Given the description of an element on the screen output the (x, y) to click on. 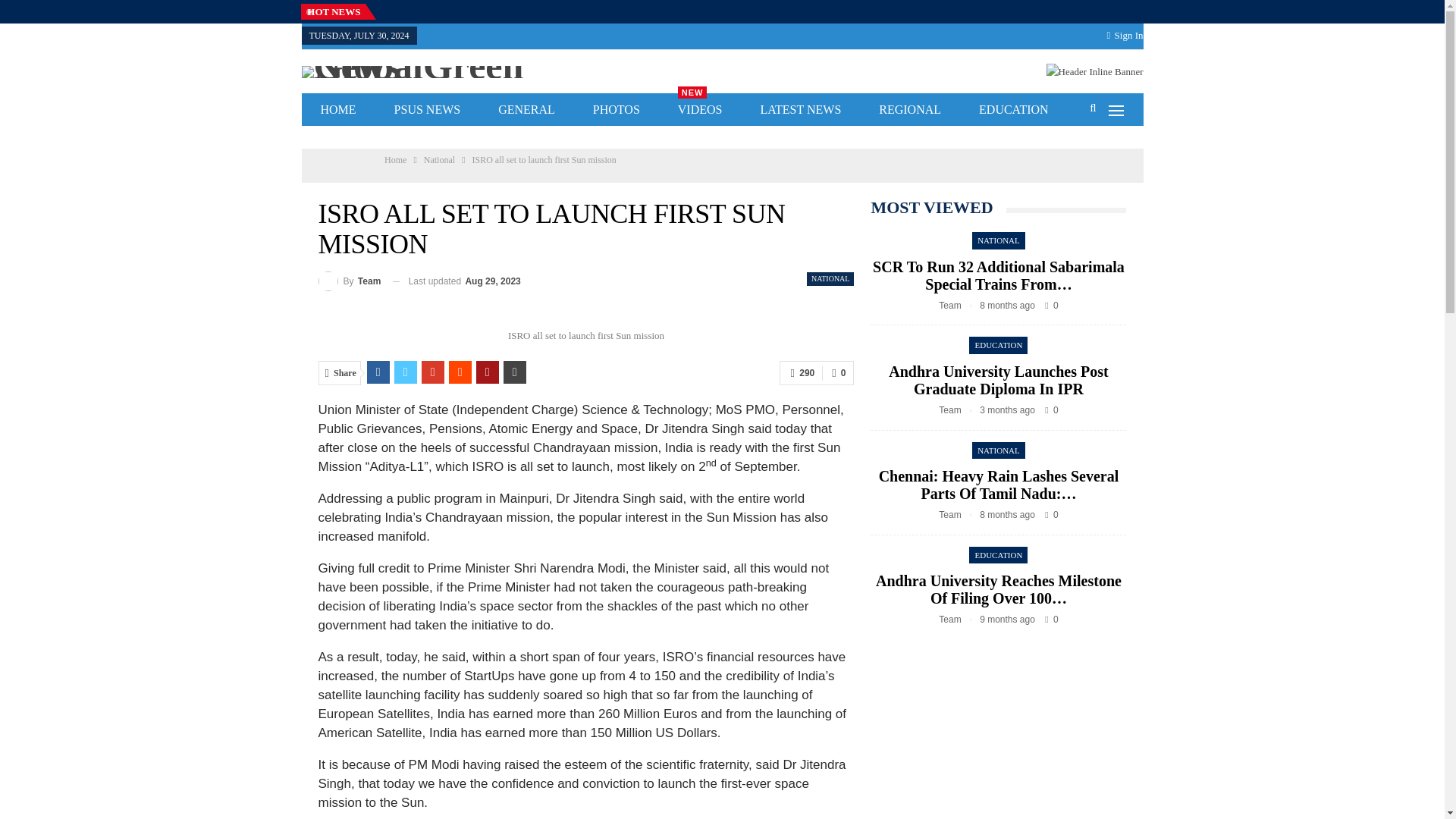
PICTURES (542, 137)
LATEST NEWS (800, 109)
GENERAL (526, 109)
Sign In (1124, 35)
RESULTS (482, 137)
Browse Author Articles (349, 281)
PHOTOS (700, 109)
Home (616, 109)
By Team (395, 159)
PSUS NEWS (349, 281)
National (427, 109)
REACTION (438, 159)
NEWSLETTER (420, 137)
HOME (667, 137)
